Given the description of an element on the screen output the (x, y) to click on. 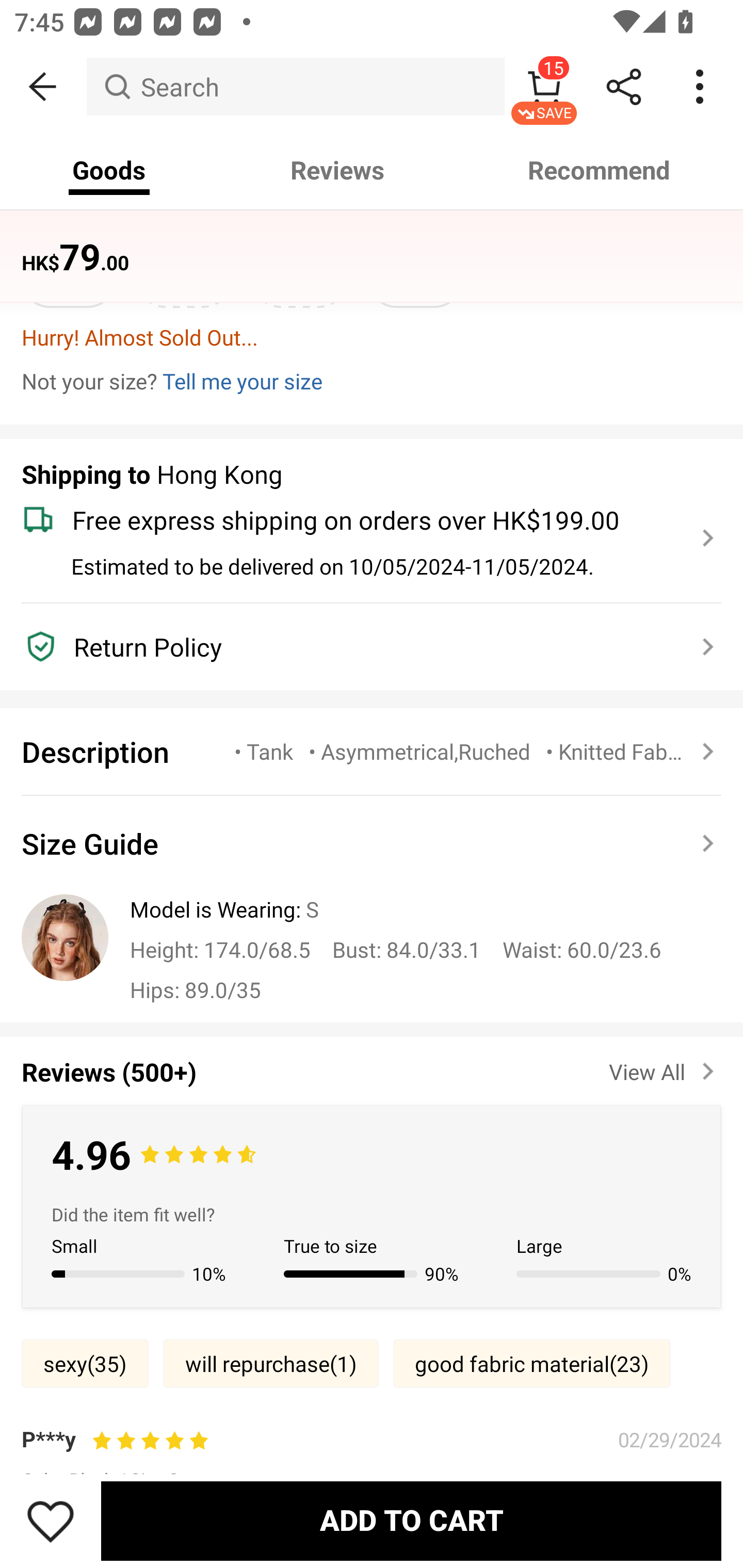
BACK (43, 86)
15 SAVE (543, 87)
Search (295, 87)
Goods (109, 170)
Reviews (337, 170)
Recommend (599, 170)
Size (44, 220)
XS XSunselected option (68, 272)
Hurry! Almost Sold Out... (371, 337)
Not your size? Tell me your size (371, 380)
Return Policy (359, 646)
Size Guide (371, 843)
View All (664, 1067)
sexy(35) (84, 1363)
will repurchase(1) (270, 1363)
good fabric material(23) (531, 1363)
ADD TO CART (411, 1520)
Save (50, 1520)
